Given the description of an element on the screen output the (x, y) to click on. 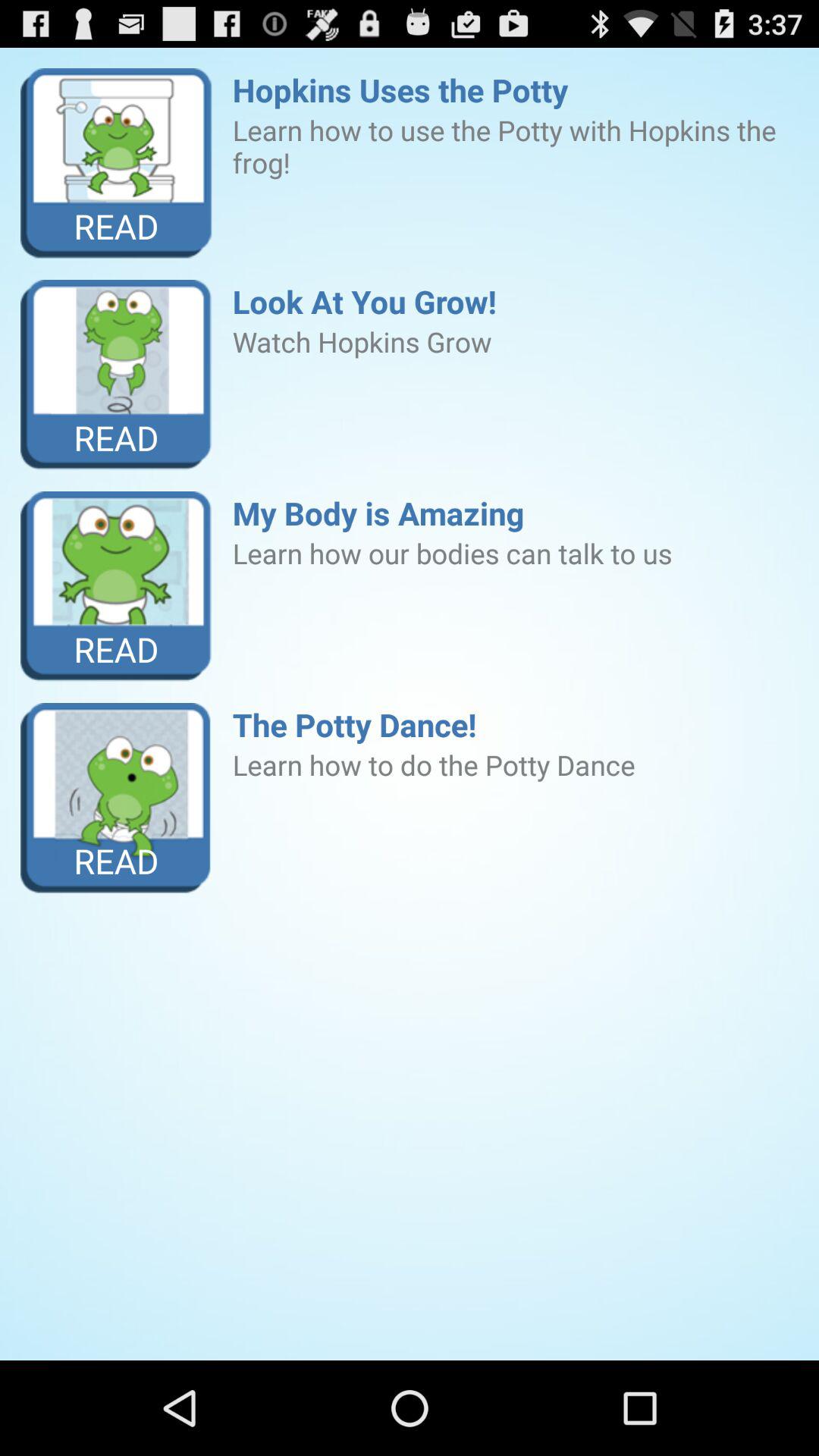
choose icon to the left of the the potty dance! app (116, 798)
